Given the description of an element on the screen output the (x, y) to click on. 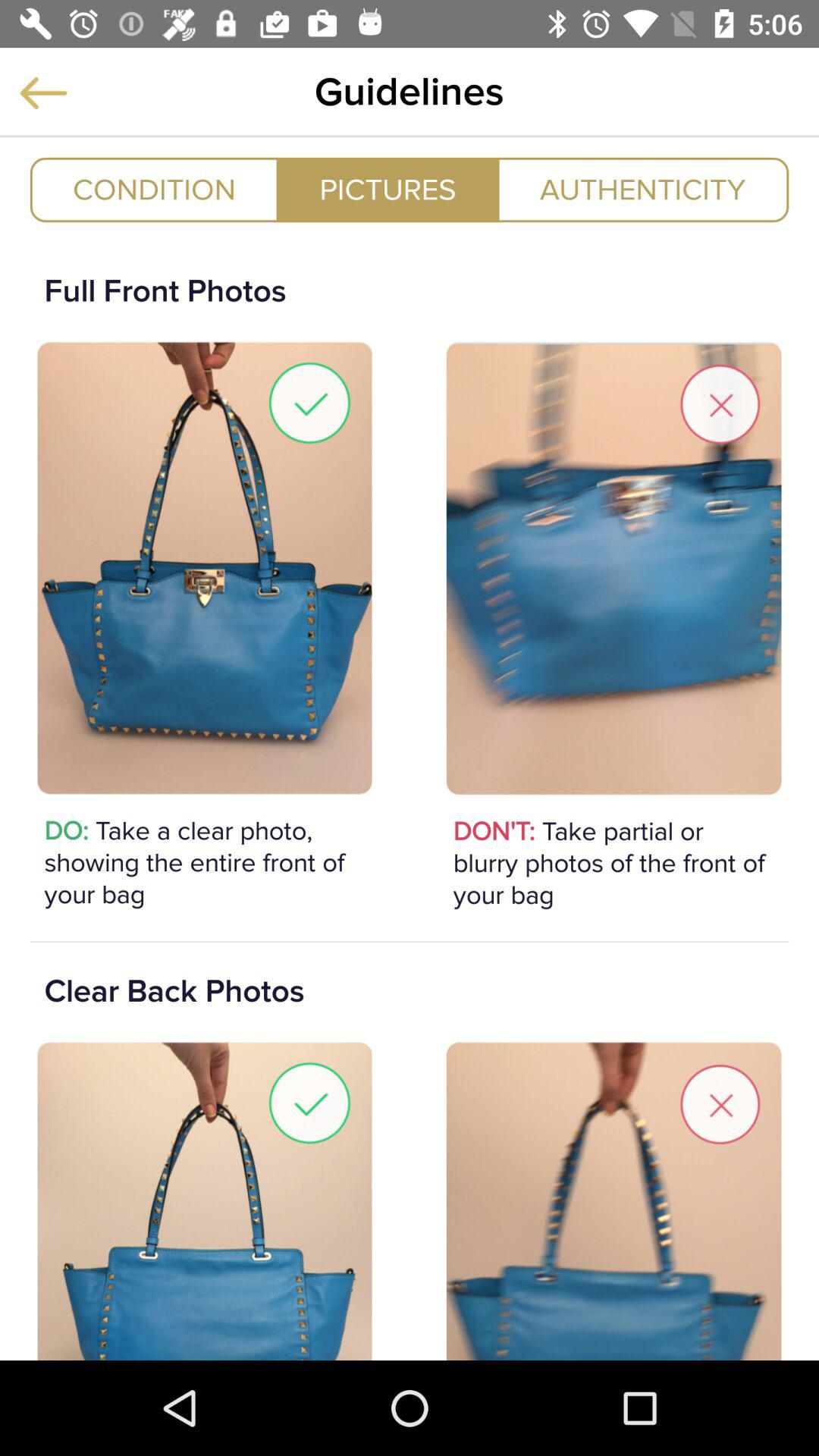
press pictures item (387, 189)
